Given the description of an element on the screen output the (x, y) to click on. 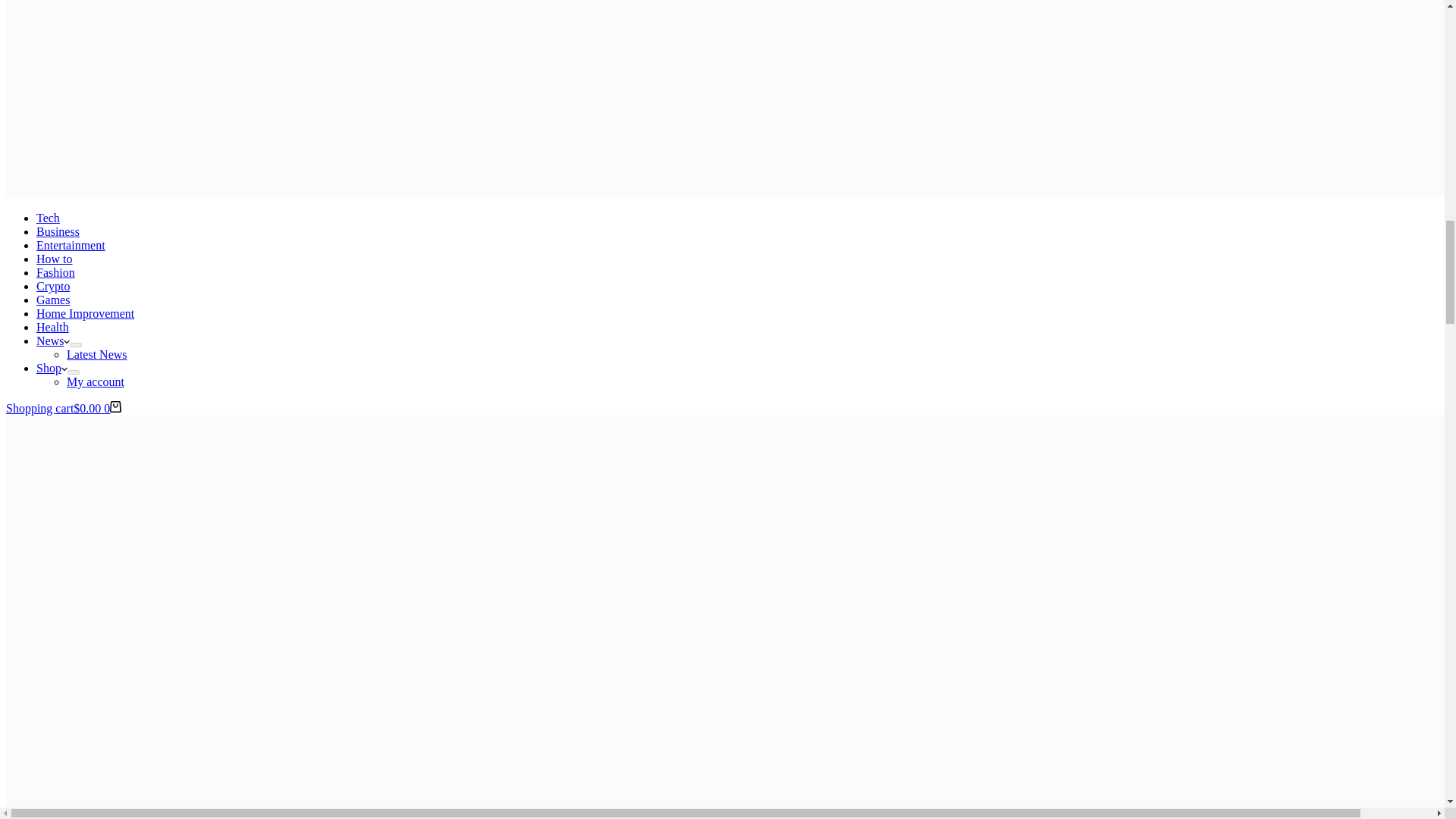
Entertainment (70, 245)
News (52, 340)
Health (52, 327)
My account (94, 381)
Games (52, 299)
Latest News (97, 354)
Crypto (52, 286)
Business (58, 231)
Tech (47, 217)
Shop (51, 367)
Fashion (55, 272)
Home Improvement (84, 313)
How to (54, 258)
